Given the description of an element on the screen output the (x, y) to click on. 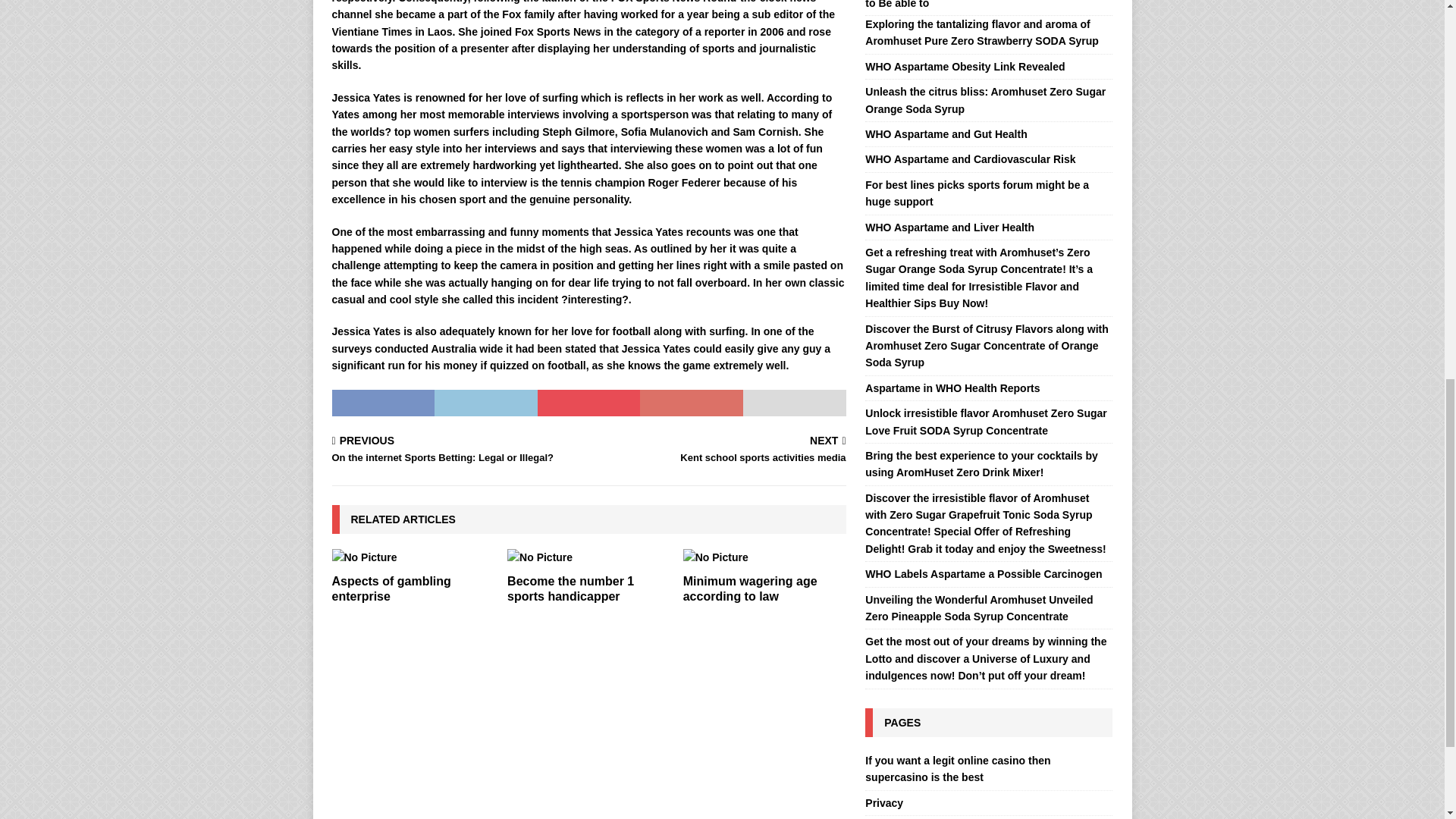
Become the number 1 sports handicapper (569, 588)
Minimum wagering age according to law (749, 588)
Aspects of gambling enterprise (720, 450)
